Given the description of an element on the screen output the (x, y) to click on. 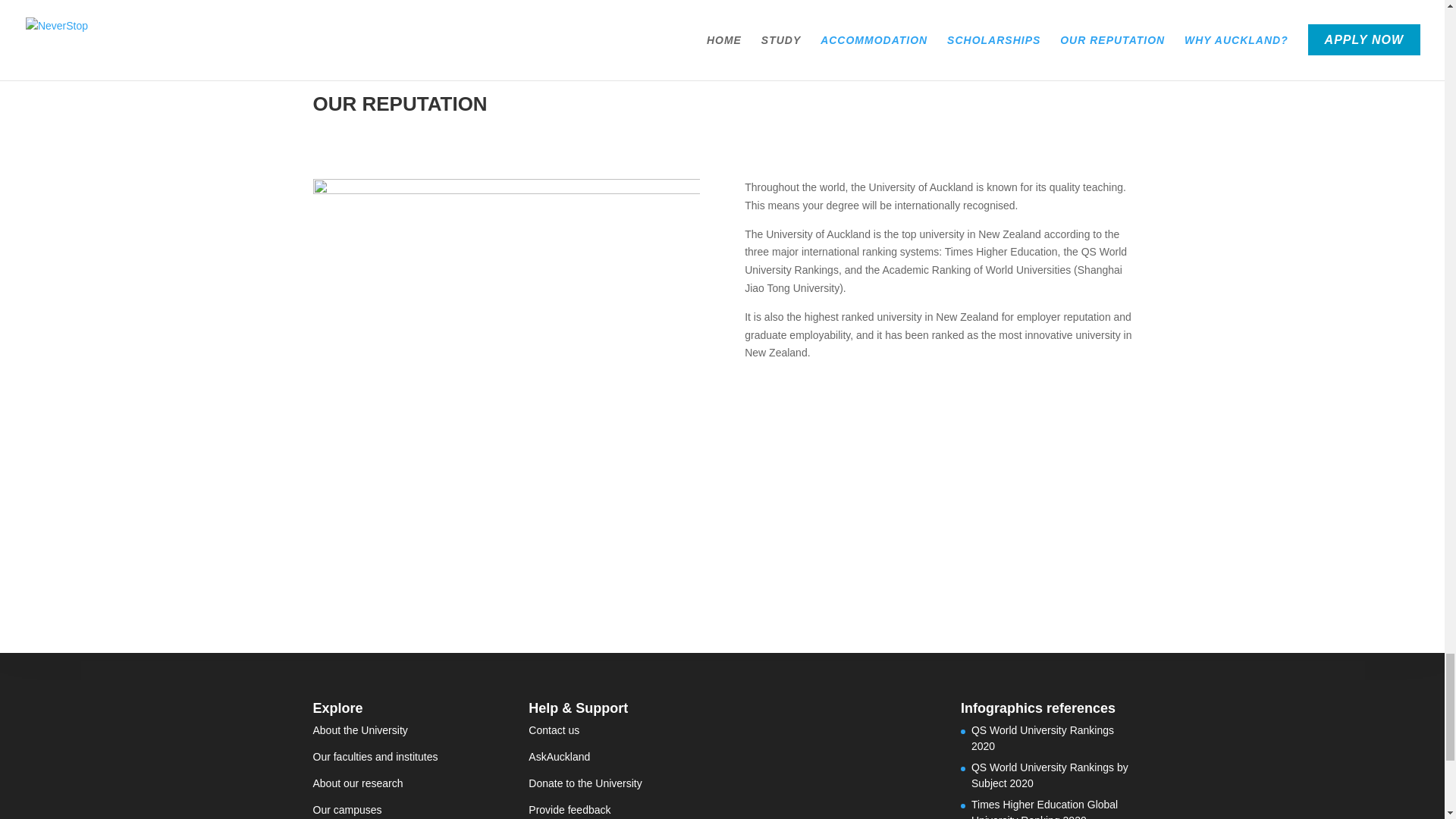
Our faculties and institutes (375, 756)
Donate to the University (585, 783)
AskAuckland (558, 756)
Contact us (553, 729)
Provide feedback (569, 809)
Our campuses (347, 809)
About our research (358, 783)
About the University (360, 729)
Explore World Rankings (842, 403)
